Given the description of an element on the screen output the (x, y) to click on. 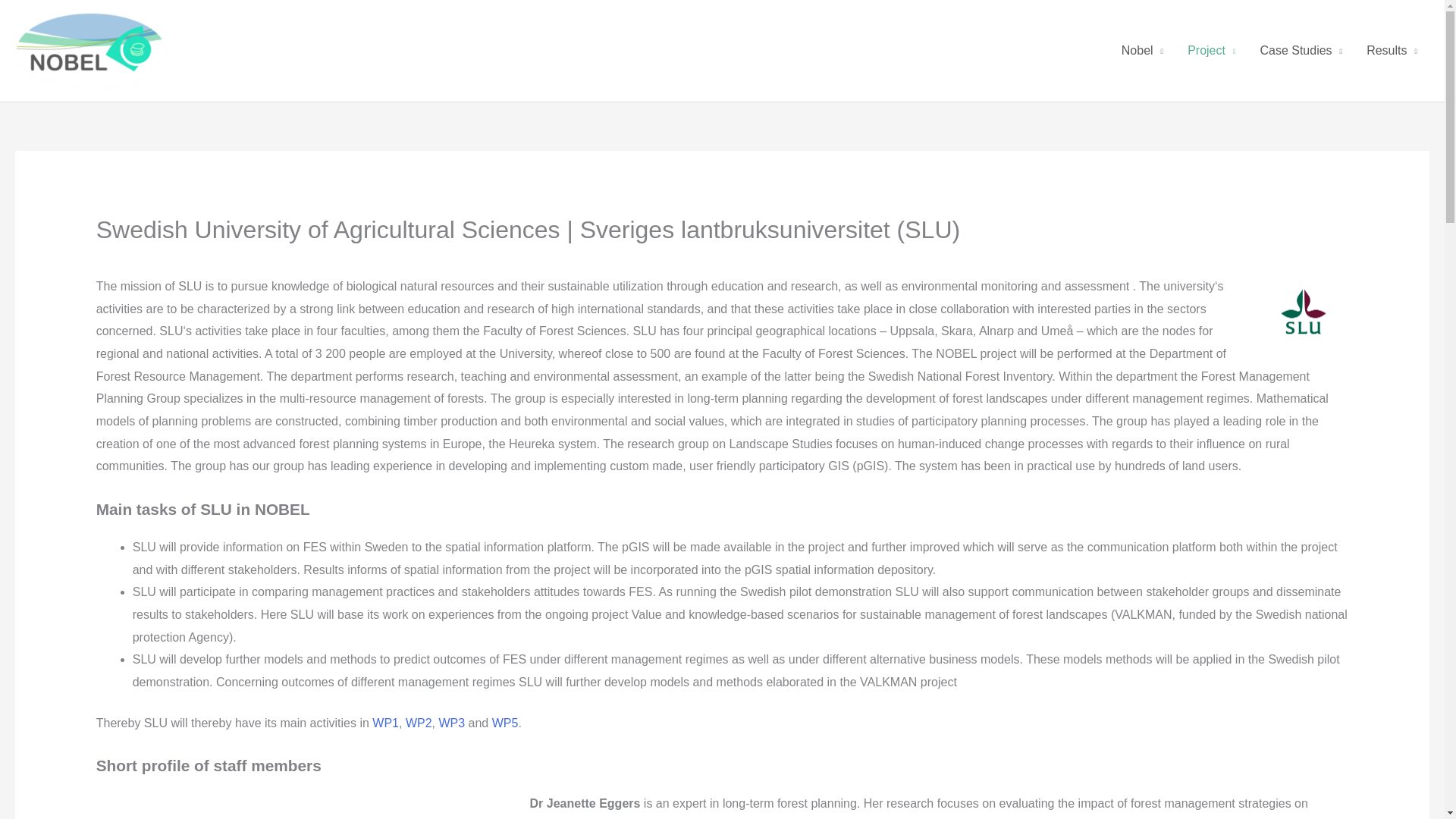
Nobel (1141, 50)
Case Studies (1300, 50)
Project (1210, 50)
Results (1391, 50)
